Given the description of an element on the screen output the (x, y) to click on. 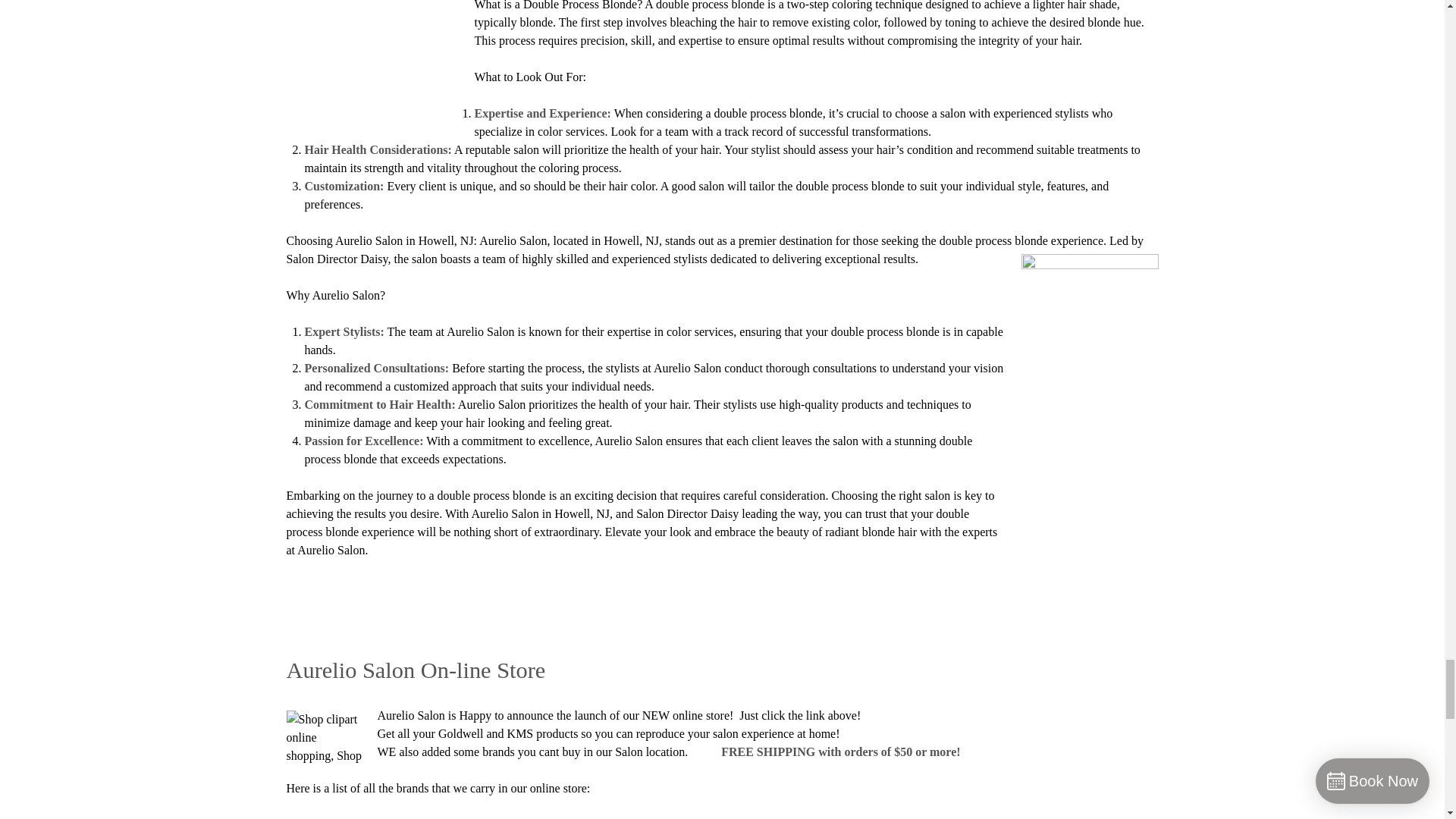
Aurelio Salon On-line Store (416, 670)
